Given the description of an element on the screen output the (x, y) to click on. 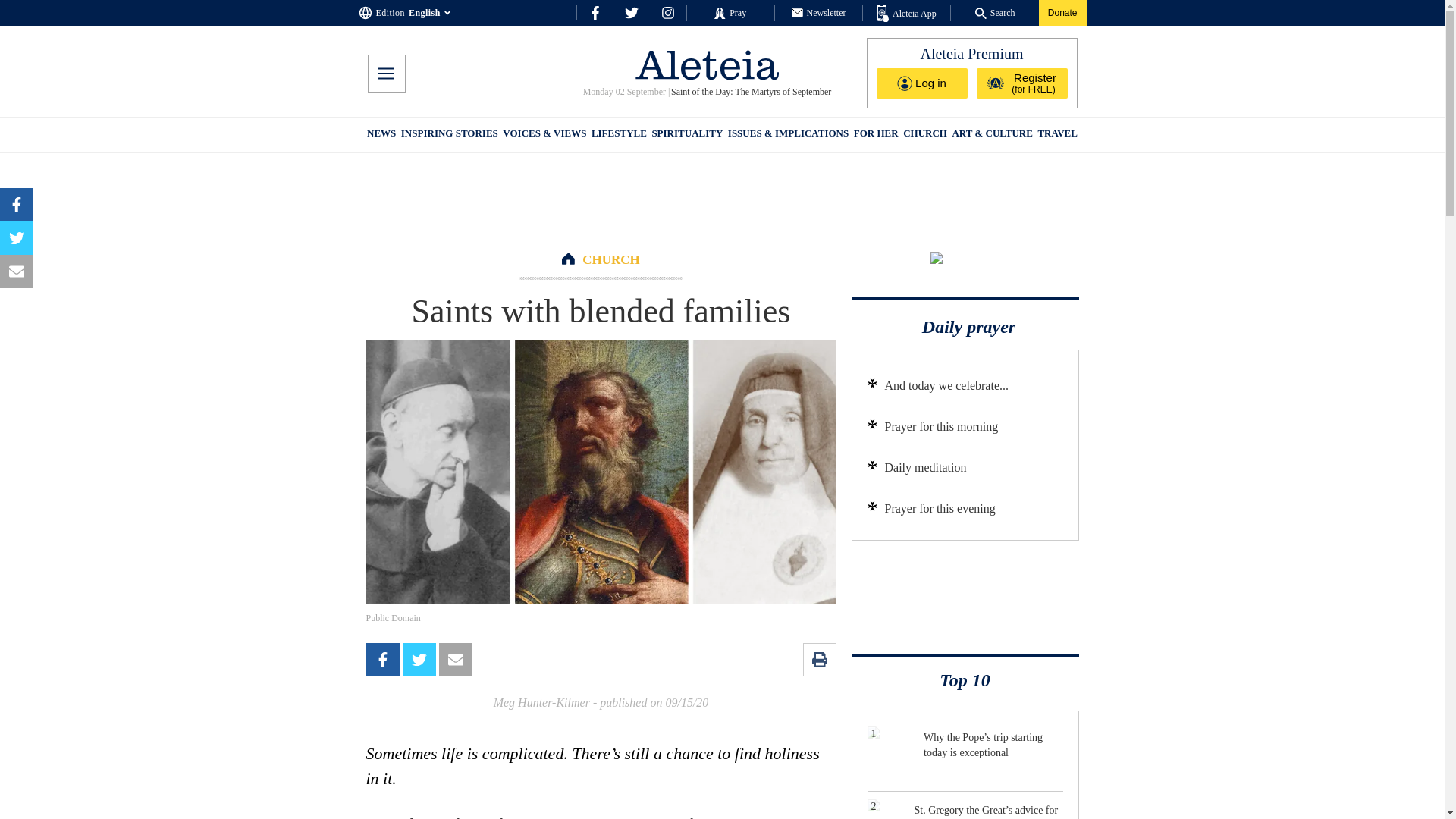
Pray (729, 12)
Aleteia App (906, 13)
Log in (922, 82)
Donate (1062, 12)
social-fb-top-row (595, 12)
FOR HER (875, 134)
SPIRITUALITY (686, 134)
Meg Hunter-Kilmer (541, 702)
CHURCH (611, 259)
Search (994, 12)
